Given the description of an element on the screen output the (x, y) to click on. 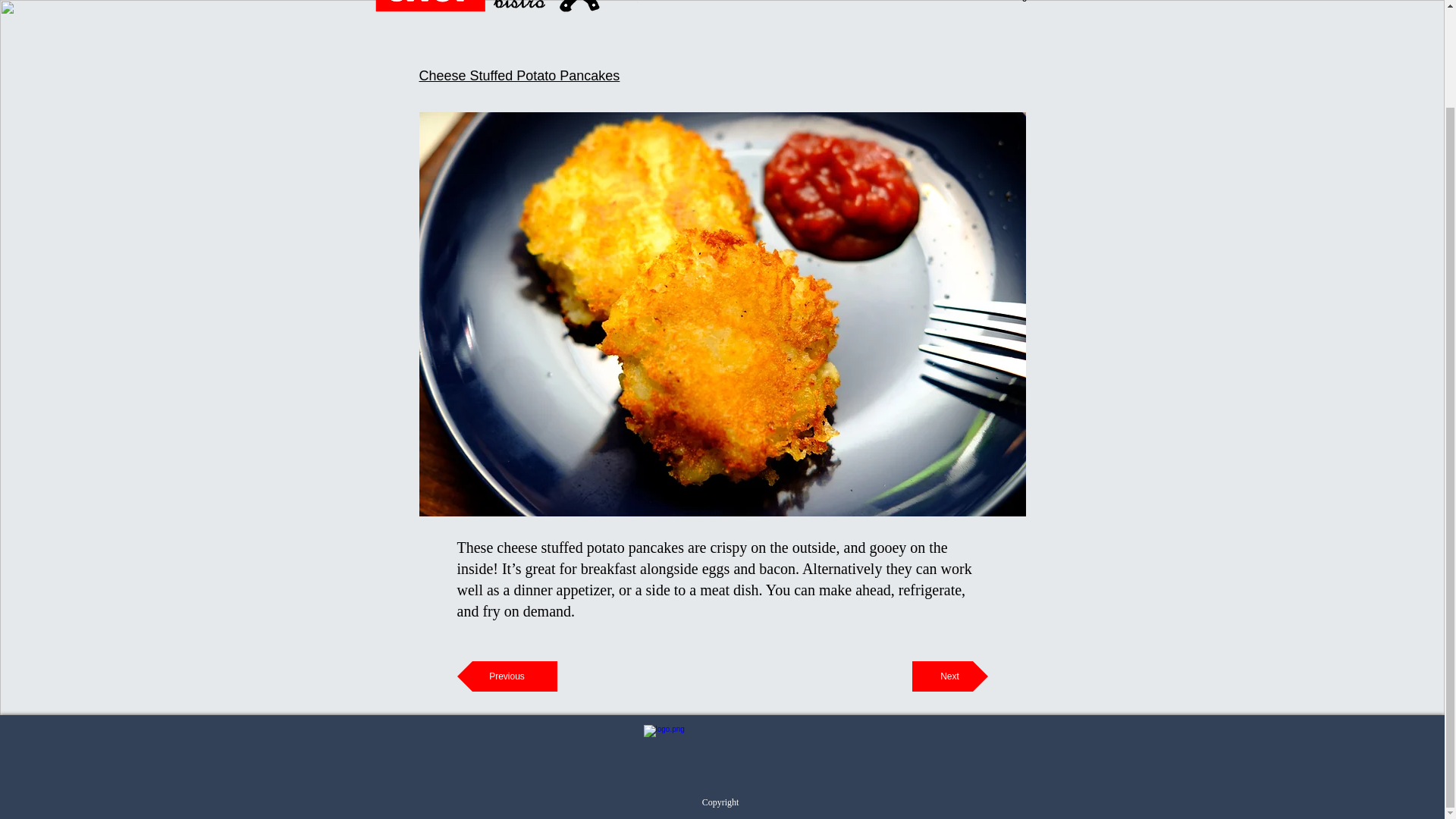
Next (949, 675)
Previous (506, 675)
Eat (700, 4)
Drink (797, 4)
Instagram (1022, 4)
Menu (899, 4)
